Given the description of an element on the screen output the (x, y) to click on. 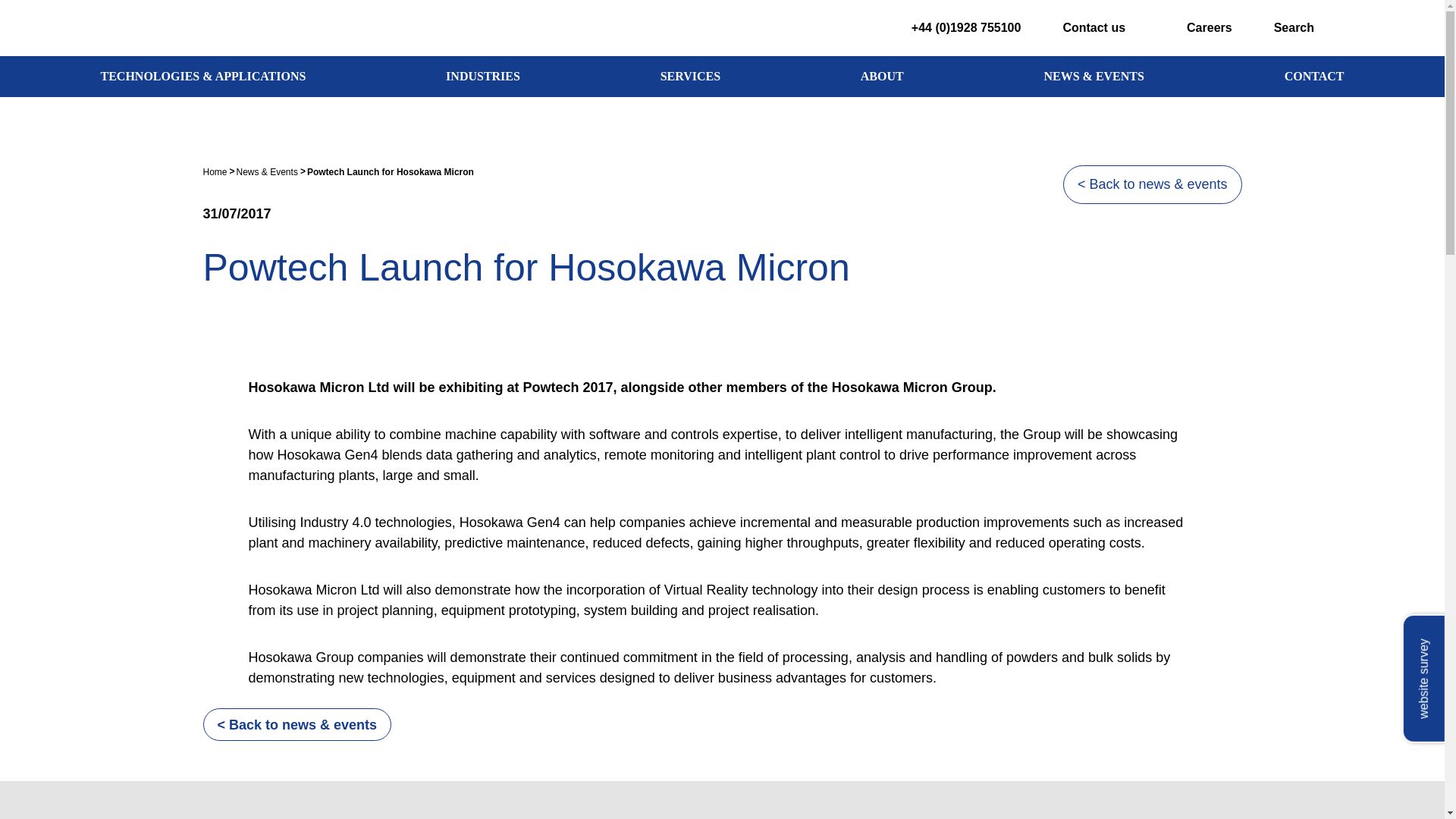
Contact us (1089, 27)
Careers (1194, 27)
INDUSTRIES (482, 76)
